Given the description of an element on the screen output the (x, y) to click on. 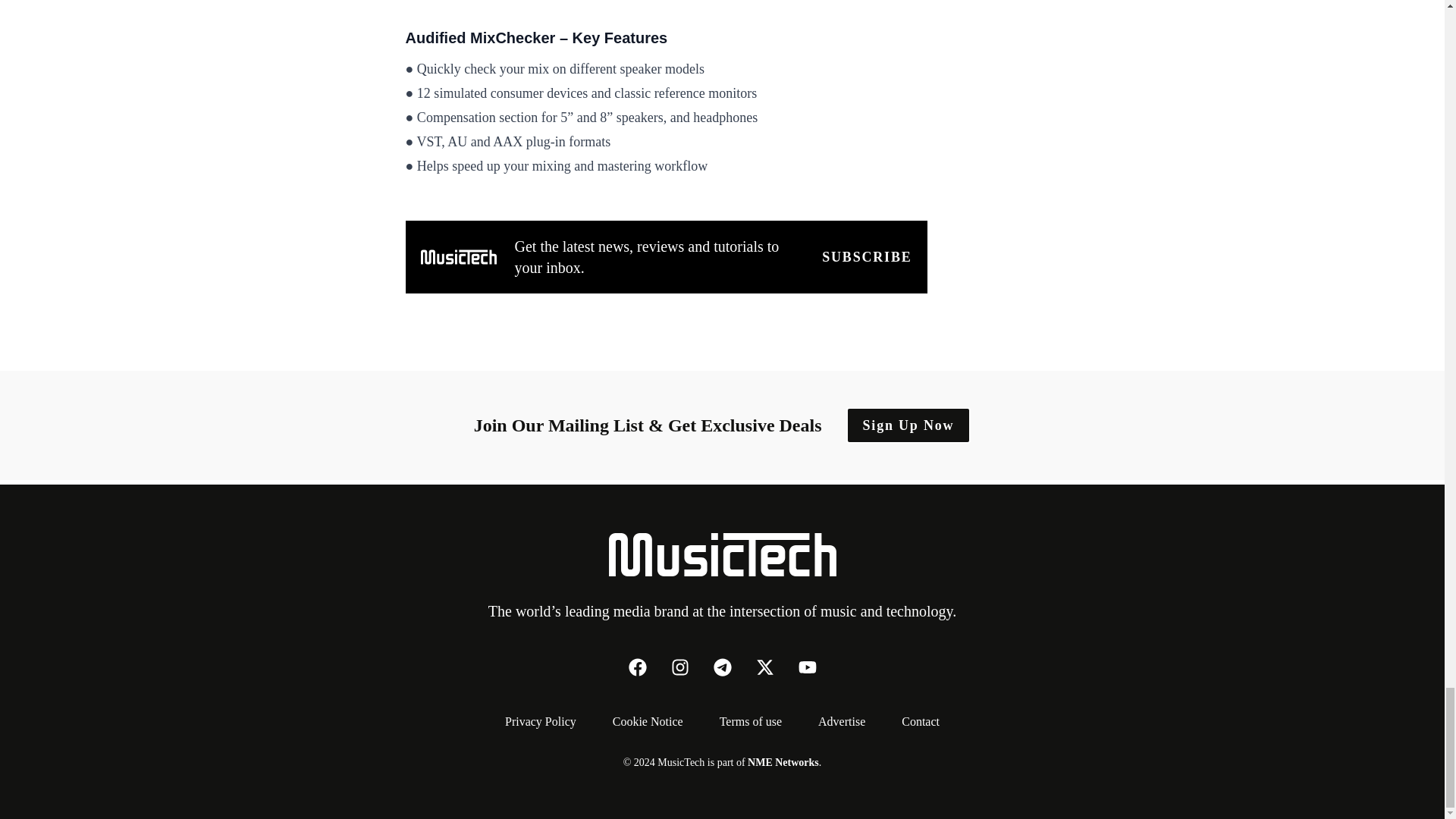
SUBSCRIBE (866, 256)
Join our mailing list (866, 256)
Sign Up Now (908, 425)
